Given the description of an element on the screen output the (x, y) to click on. 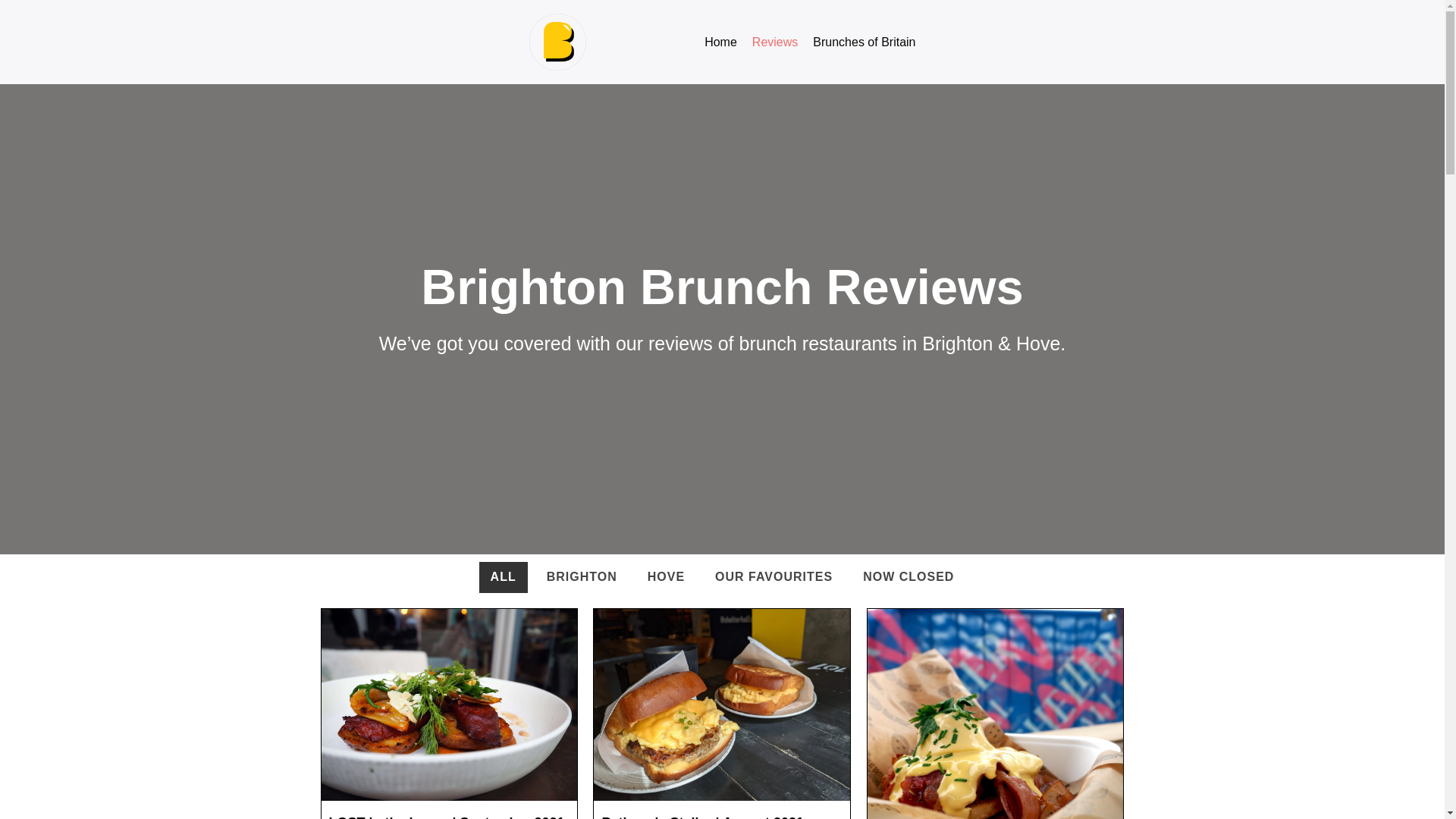
Brunches of Britain (863, 42)
Brunches of Brighton (557, 41)
Skip to content (15, 7)
Home (720, 42)
Reviews (774, 42)
